Given the description of an element on the screen output the (x, y) to click on. 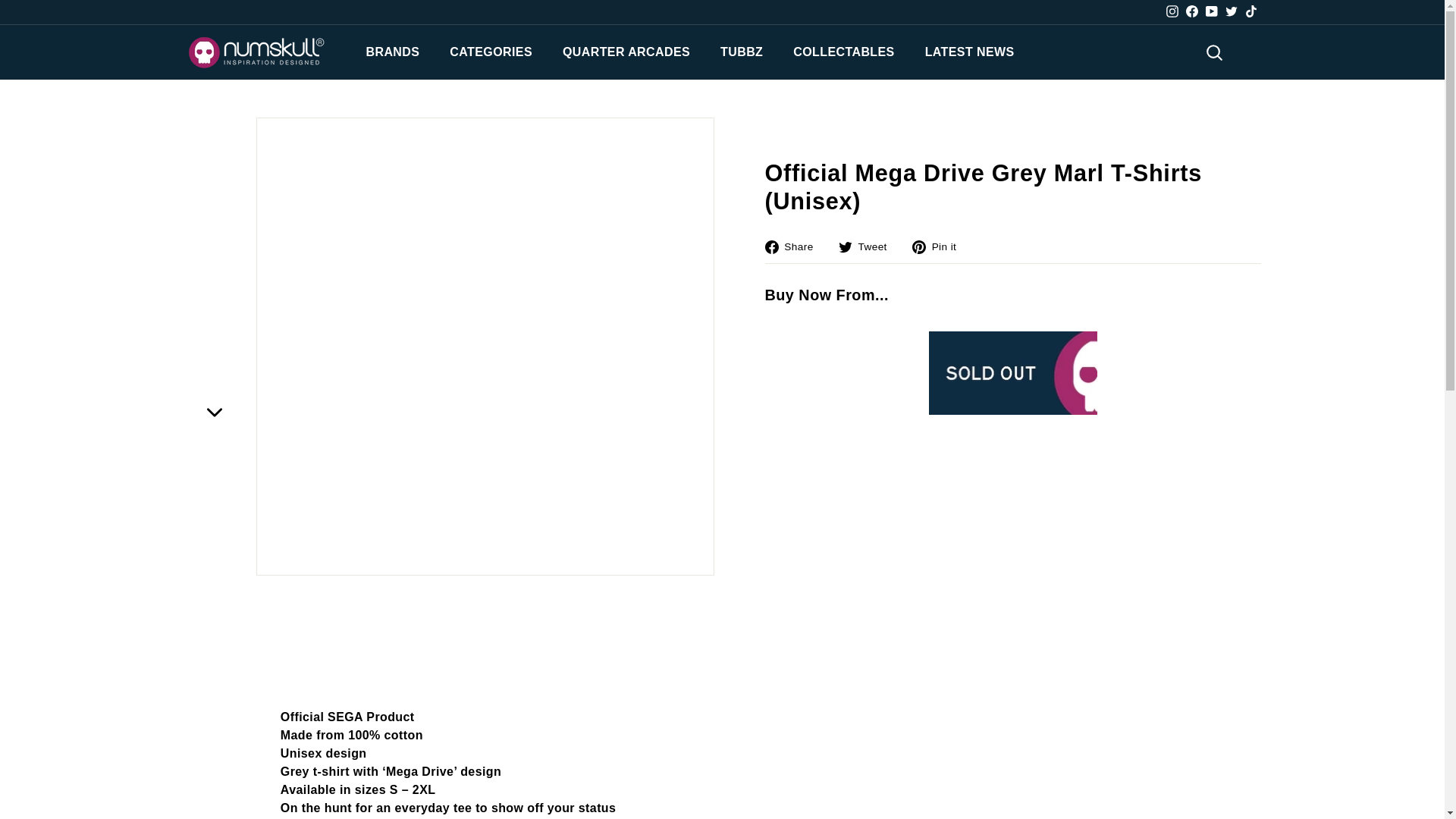
Pin on Pinterest (940, 246)
Share on Facebook (794, 246)
Tweet on Twitter (868, 246)
BRANDS (391, 51)
